Given the description of an element on the screen output the (x, y) to click on. 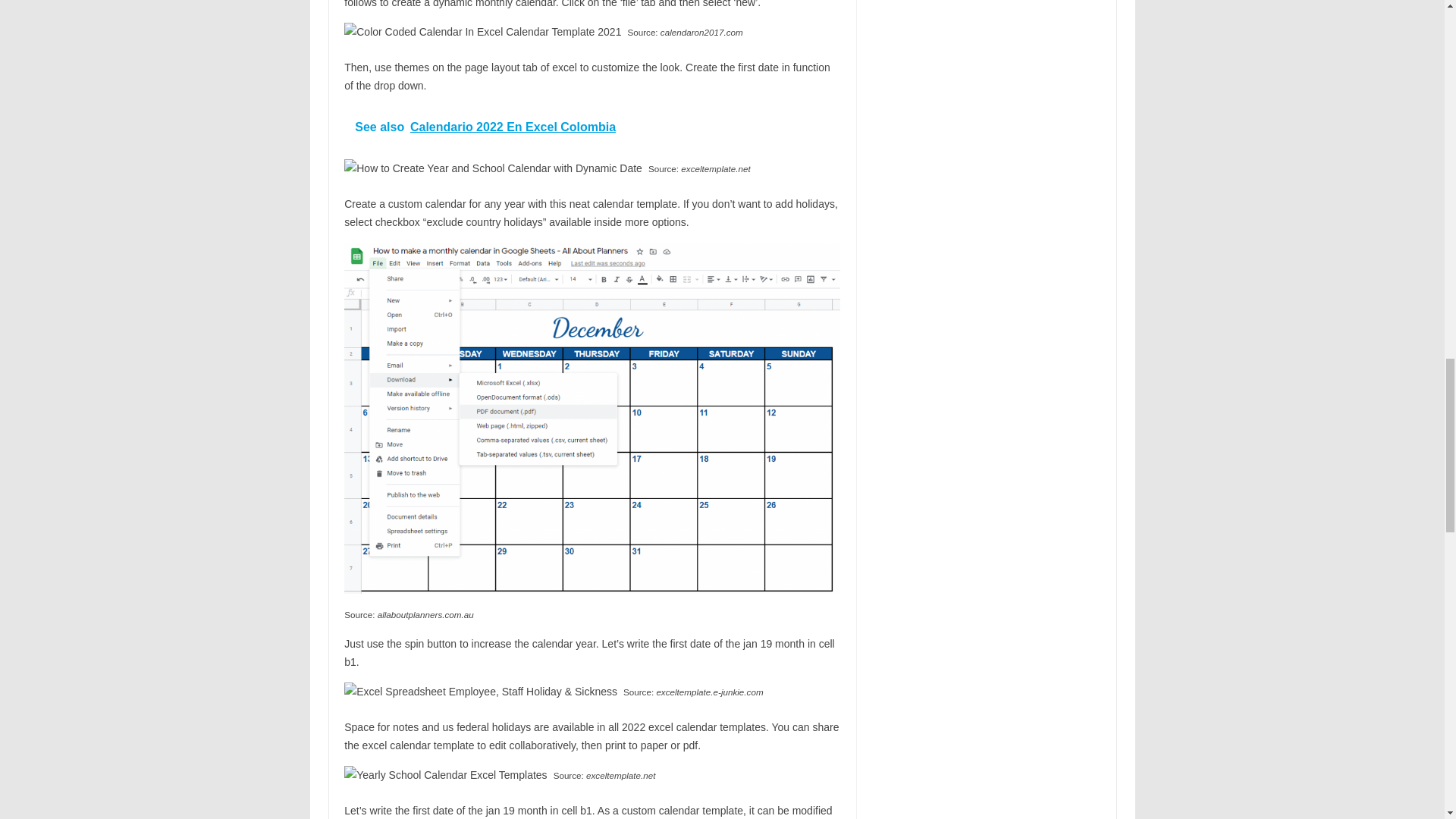
See also  Calendario 2022 En Excel Colombia (591, 127)
